Given the description of an element on the screen output the (x, y) to click on. 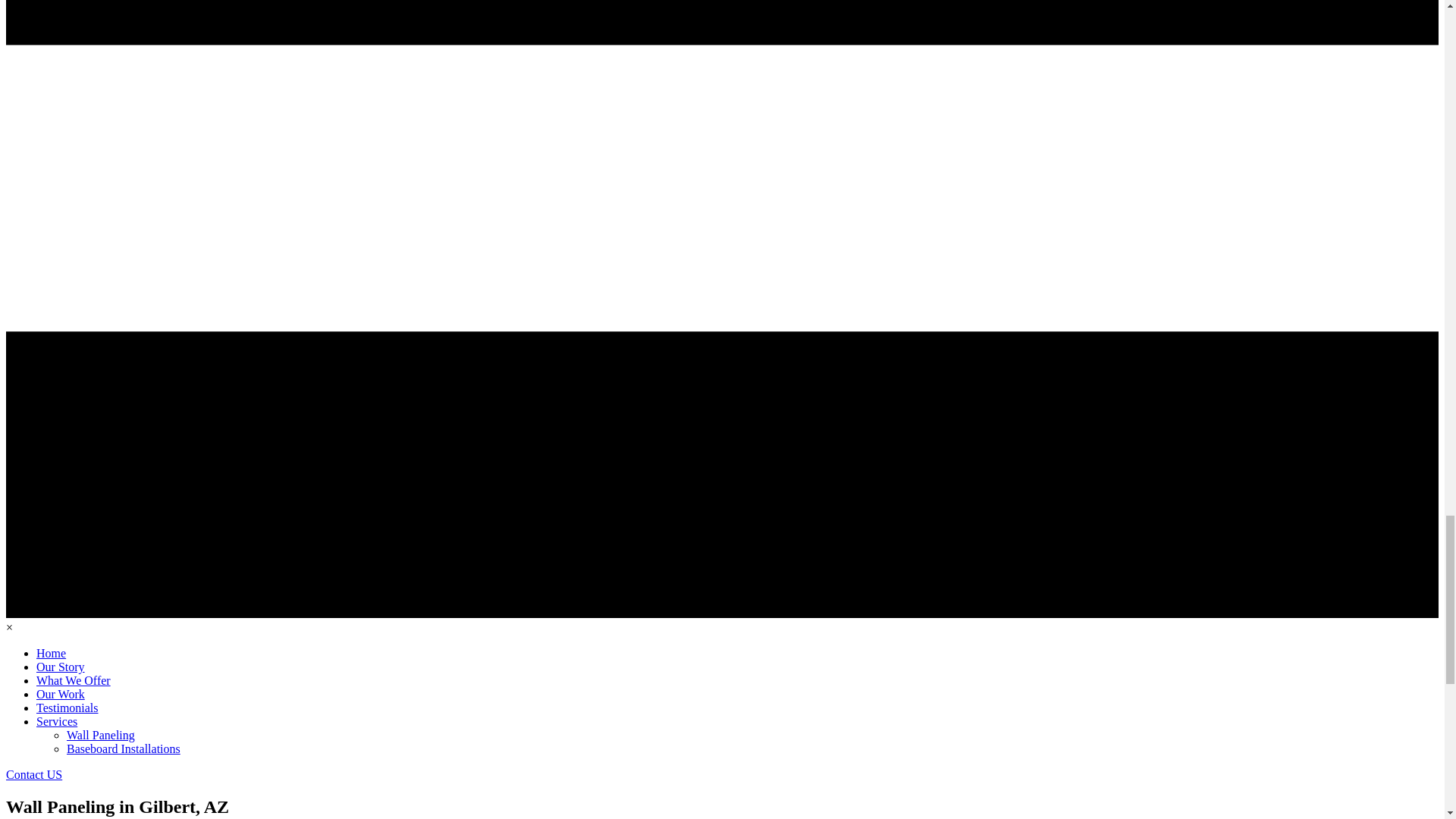
Testimonials (67, 707)
Services (56, 721)
What We Offer (73, 680)
Wall Paneling (100, 735)
Contact US (33, 774)
Home (50, 653)
Baseboard Installations (123, 748)
Our Story (60, 666)
Our Work (60, 694)
